Given the description of an element on the screen output the (x, y) to click on. 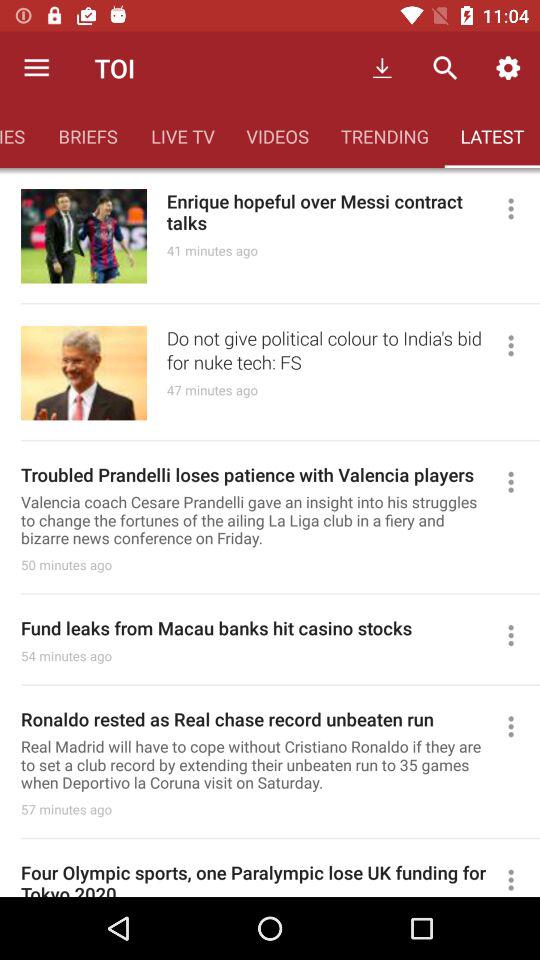
three dot menu (519, 482)
